Given the description of an element on the screen output the (x, y) to click on. 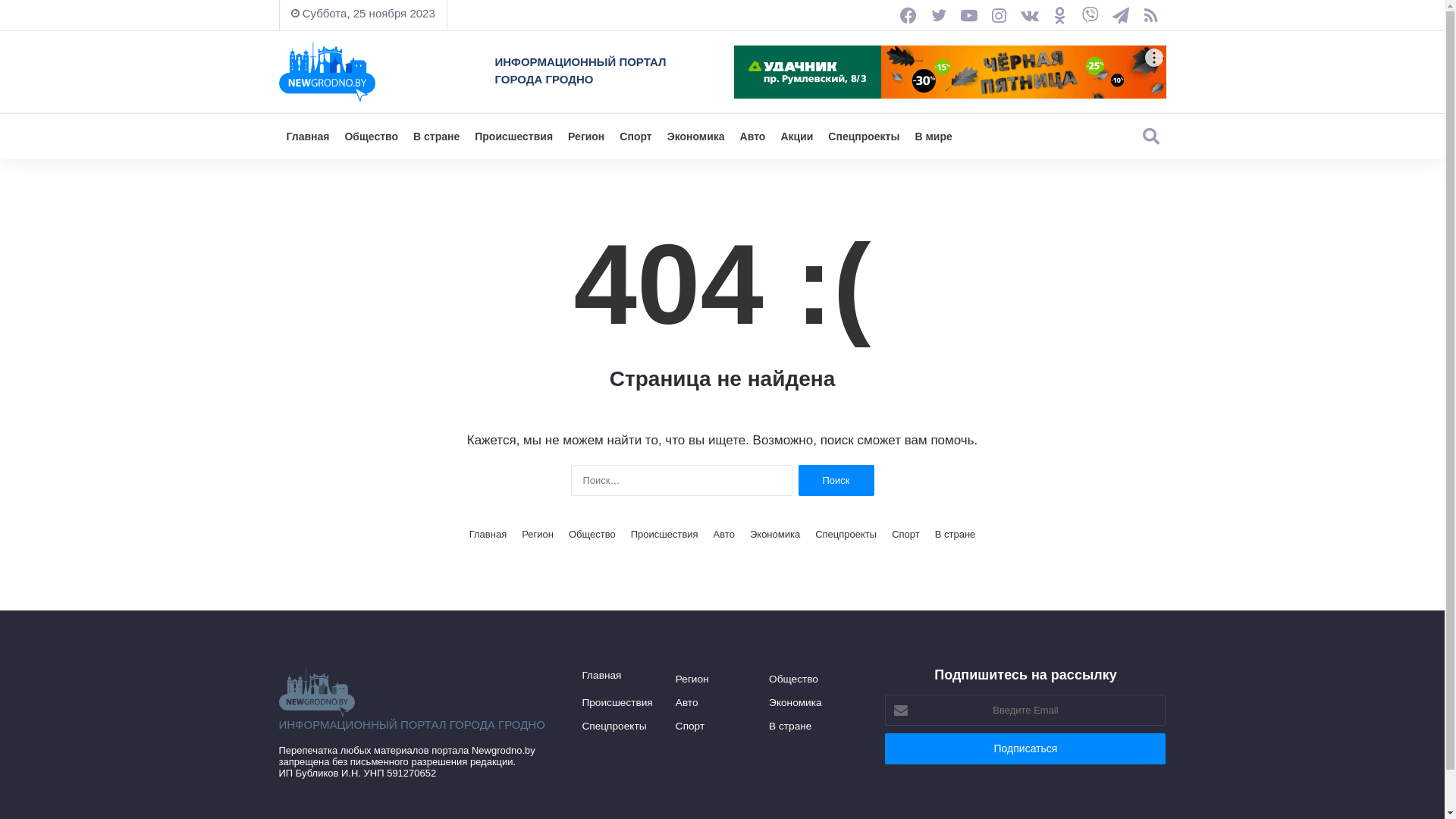
NewGrodno.By Element type: hover (327, 69)
RSS Element type: text (1150, 15)
Facebook Element type: text (908, 15)
YouTube Element type: text (968, 15)
Telegram Element type: text (1120, 15)
Instagram Element type: text (999, 15)
Odnoklassniki Element type: text (1059, 15)
Viber Element type: text (1090, 15)
Twitter Element type: text (938, 15)
vk.com Element type: text (1029, 15)
